Given the description of an element on the screen output the (x, y) to click on. 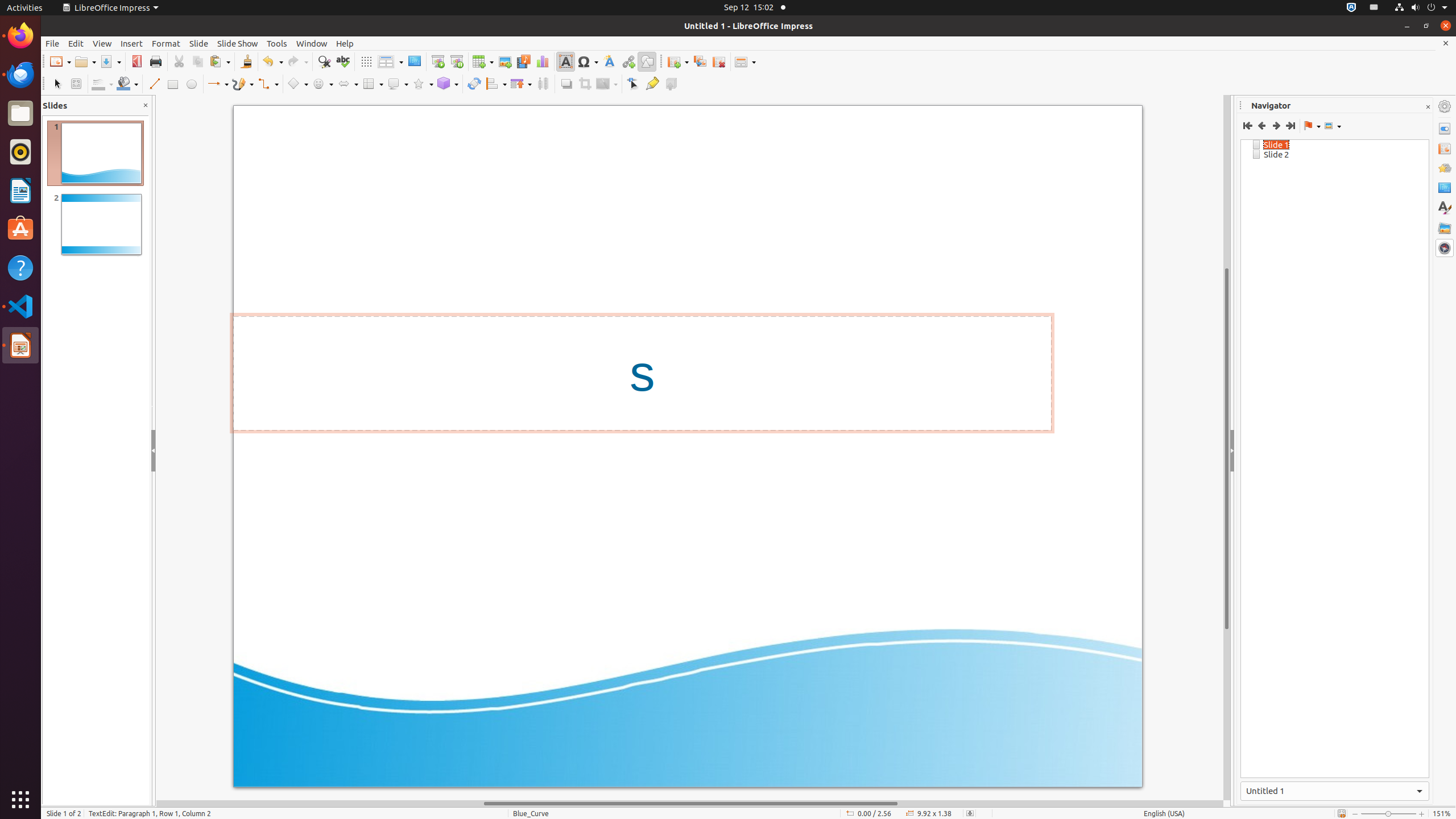
Callout Shapes Element type: push-button (397, 83)
LibreOffice Impress Element type: push-button (20, 344)
Slide Show Element type: menu (237, 43)
Start from First Slide Element type: push-button (437, 61)
